Given the description of an element on the screen output the (x, y) to click on. 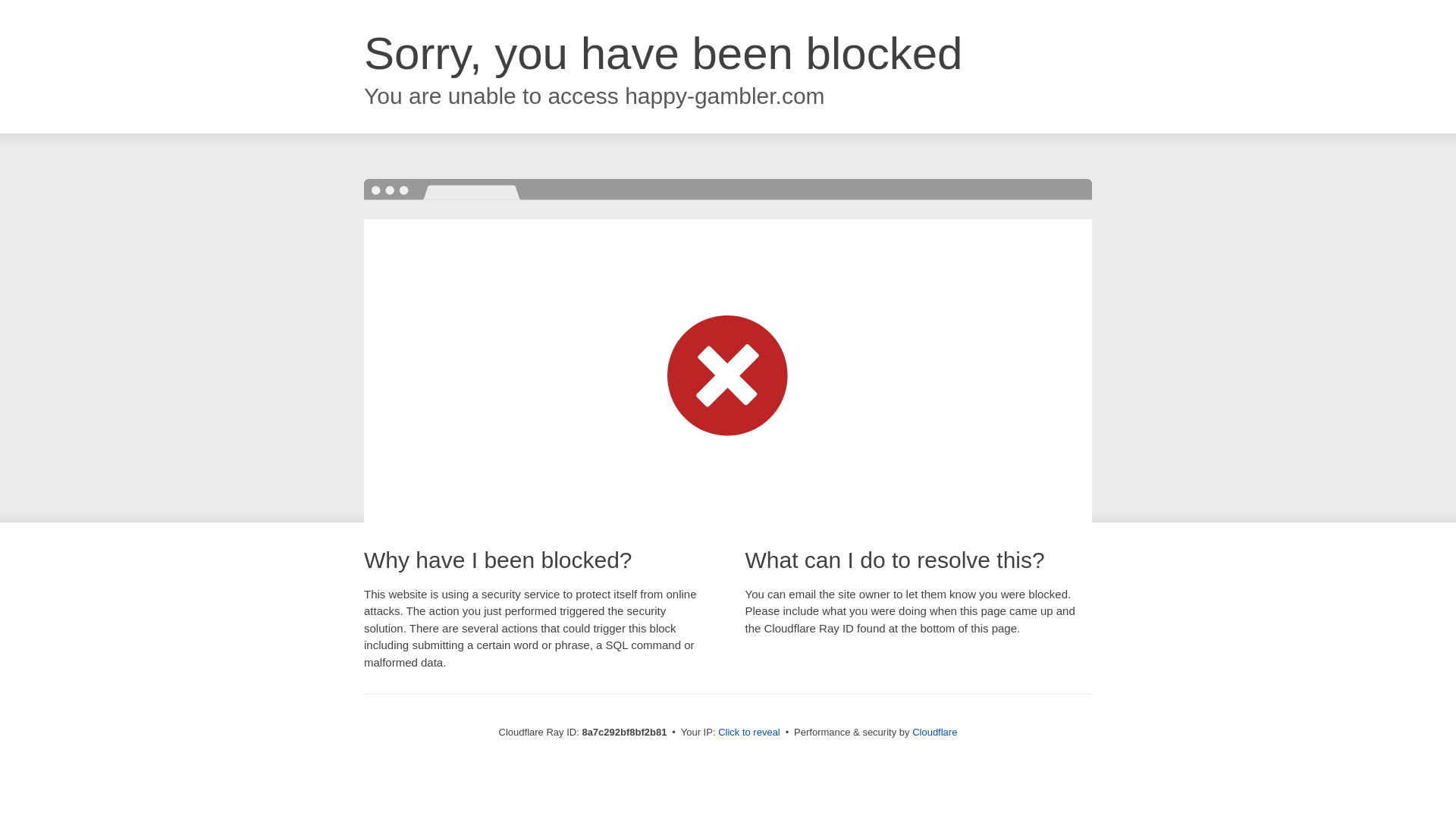
Cloudflare (934, 731)
Click to reveal (748, 732)
